Given the description of an element on the screen output the (x, y) to click on. 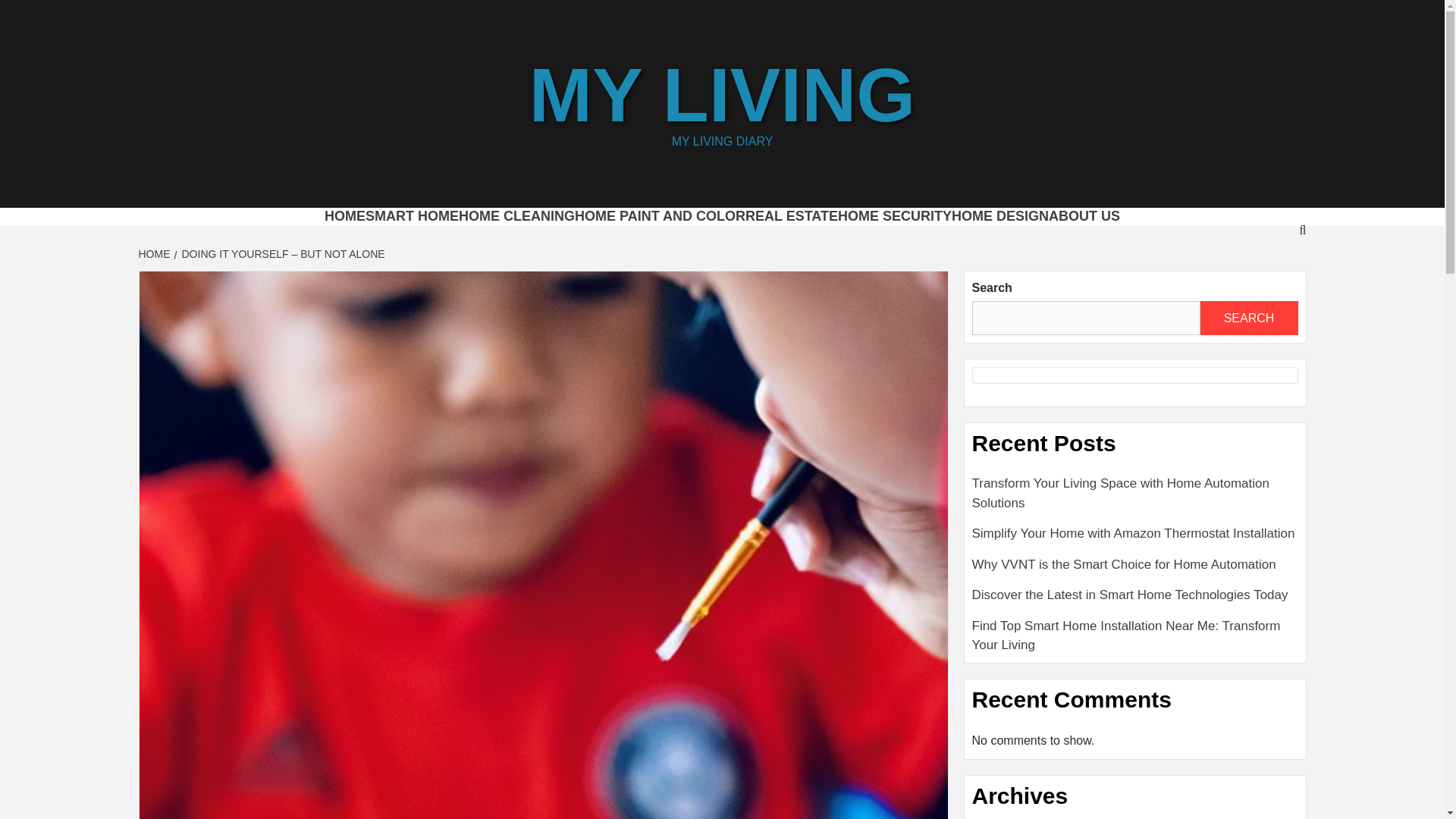
HOME PAINT AND COLOR (660, 215)
HOME (155, 254)
ABOUT US (1083, 215)
HOME CLEANING (516, 215)
Simplify Your Home with Amazon Thermostat Installation (1135, 539)
SEARCH (1248, 317)
Transform Your Living Space with Home Automation Solutions (1135, 499)
HOME DESIGN (1000, 215)
SMART HOME (411, 215)
